Given the description of an element on the screen output the (x, y) to click on. 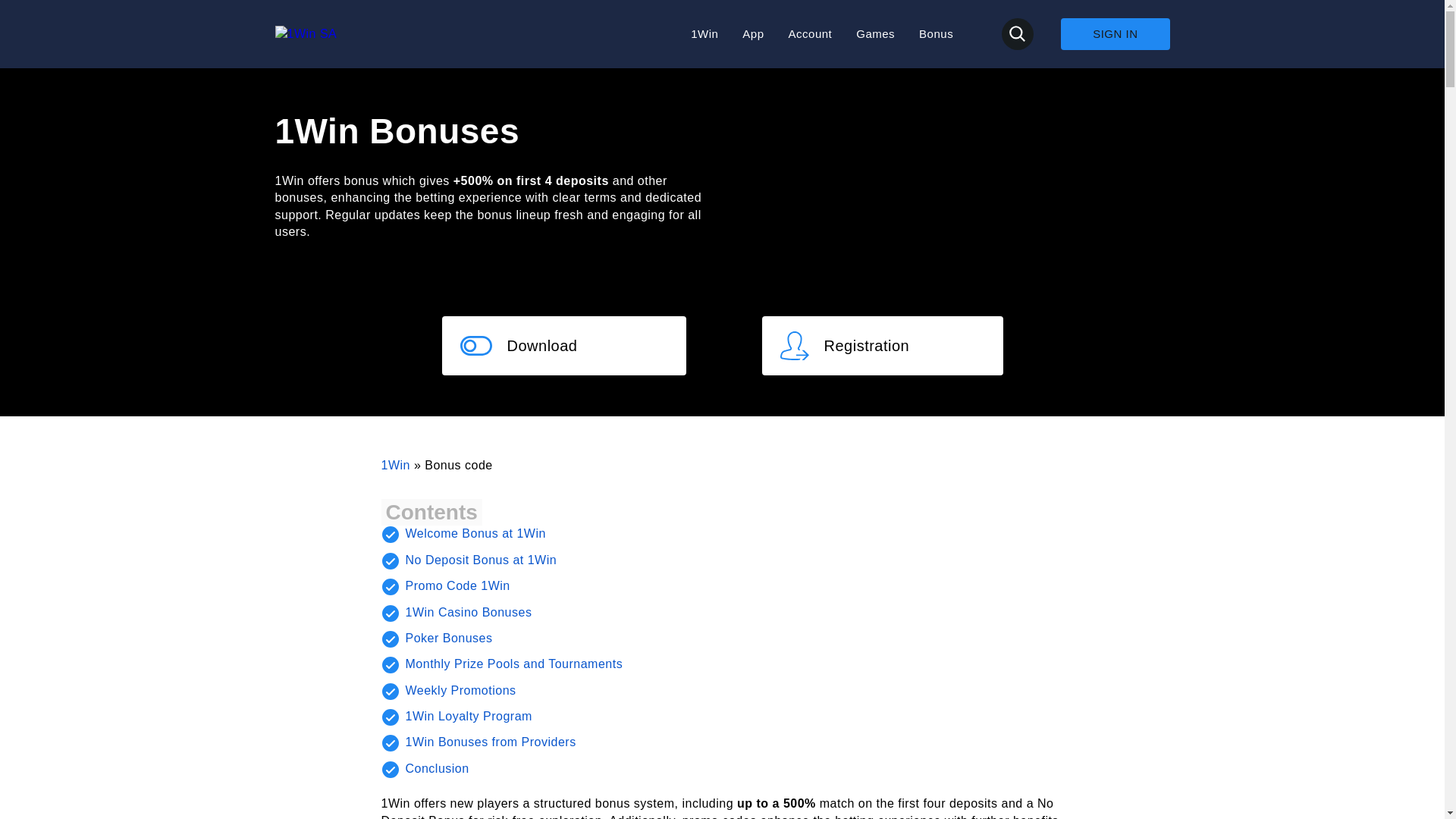
App (752, 33)
1Win Casino Bonuses (467, 612)
Weekly Promotions (459, 689)
No Deposit Bonus at 1Win (480, 559)
Registration (882, 345)
Welcome Bonus at 1Win (474, 533)
1Win Bonuses from Providers (489, 741)
Contents (430, 512)
Games (875, 33)
Download (563, 345)
Monthly Prize Pools and Tournaments (513, 663)
Poker Bonuses (448, 637)
Conclusion (436, 768)
1Win (703, 33)
Account (810, 33)
